Given the description of an element on the screen output the (x, y) to click on. 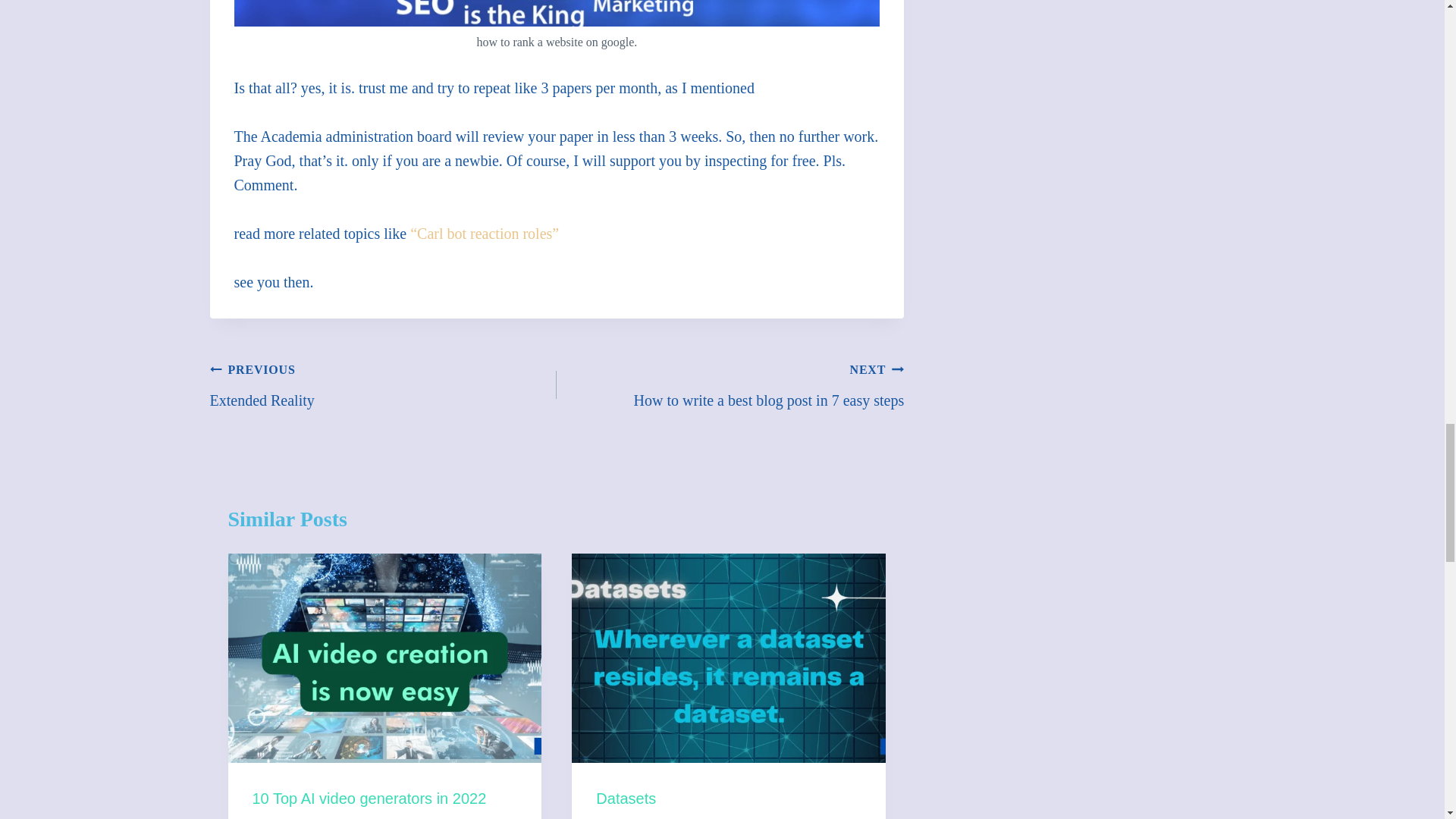
Datasets (625, 798)
10 Top AI video generators in 2022 (730, 384)
